Given the description of an element on the screen output the (x, y) to click on. 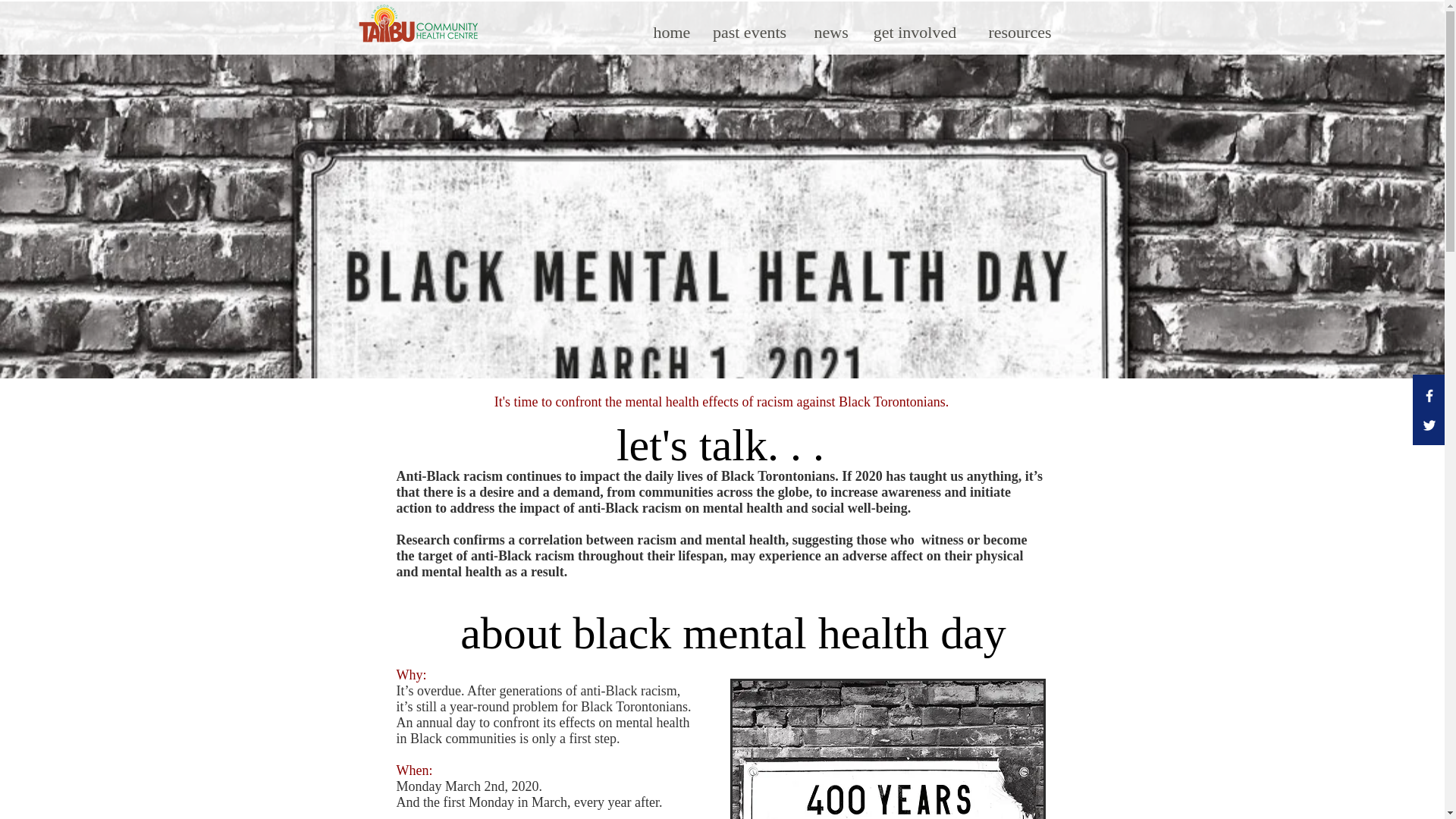
get involved (915, 32)
home (668, 32)
resources (1020, 32)
news (829, 32)
past events (748, 32)
